Given the description of an element on the screen output the (x, y) to click on. 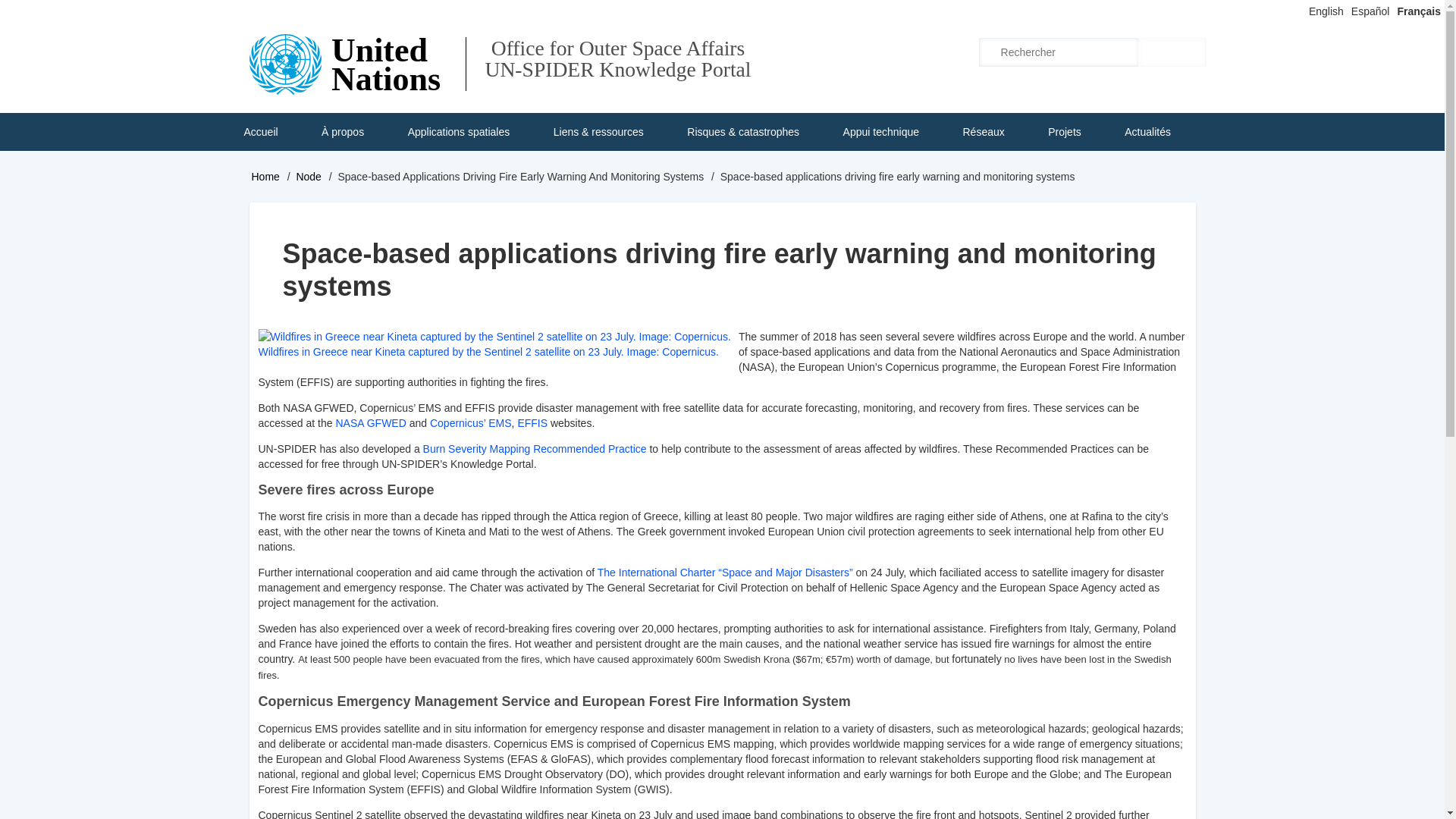
Enter the terms you wish to search for. (1058, 51)
. (1172, 51)
. (1172, 51)
. (1172, 51)
Accueil (259, 131)
English (1325, 10)
Appui technique (880, 131)
Applications spatiales (458, 131)
